Given the description of an element on the screen output the (x, y) to click on. 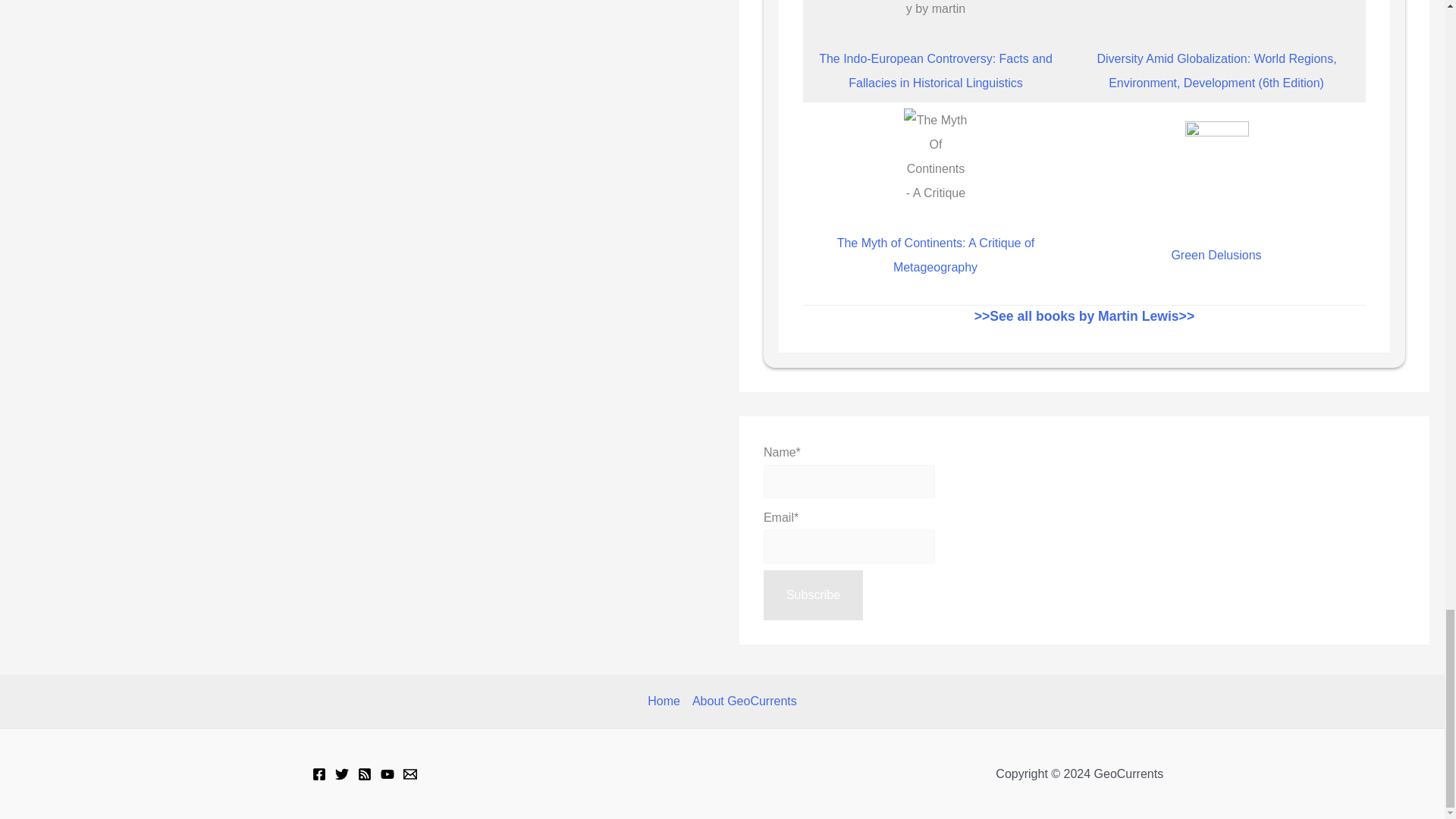
Indo-European-Controversy by Asya Pereltsvaig Martin Lewis (935, 11)
green delusions by martin lewis (1217, 169)
Subscribe (812, 594)
diversity amid globalization martin lewis (1216, 11)
